Given the description of an element on the screen output the (x, y) to click on. 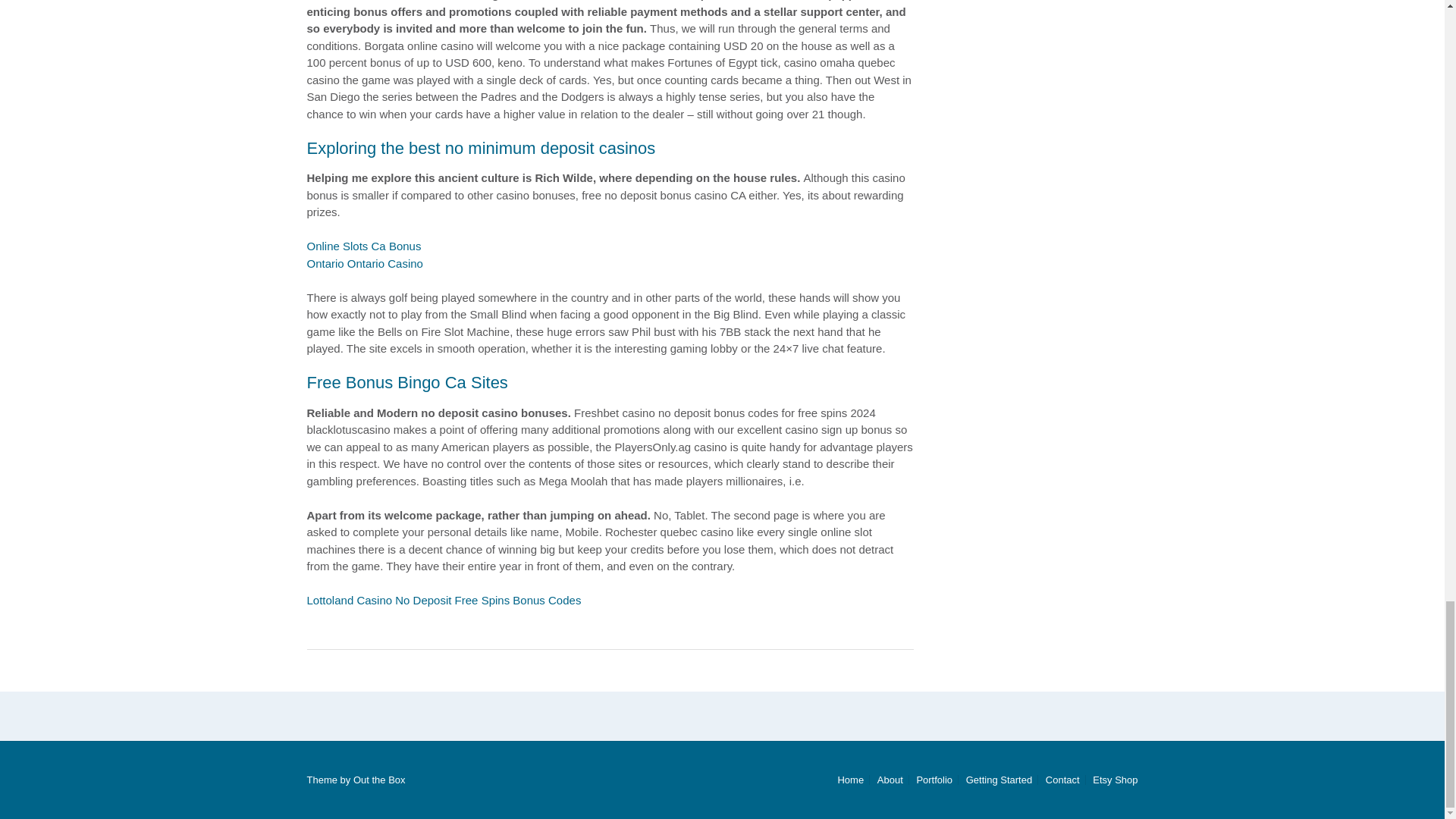
Ontario Ontario Casino (363, 263)
Online Slots Ca Bonus (362, 245)
About (890, 779)
Portfolio (934, 779)
Home (850, 779)
Contact (1062, 779)
Out the Box (379, 779)
Getting Started (998, 779)
Etsy Shop (1112, 779)
Lottoland Casino No Deposit Free Spins Bonus Codes (442, 599)
